Given the description of an element on the screen output the (x, y) to click on. 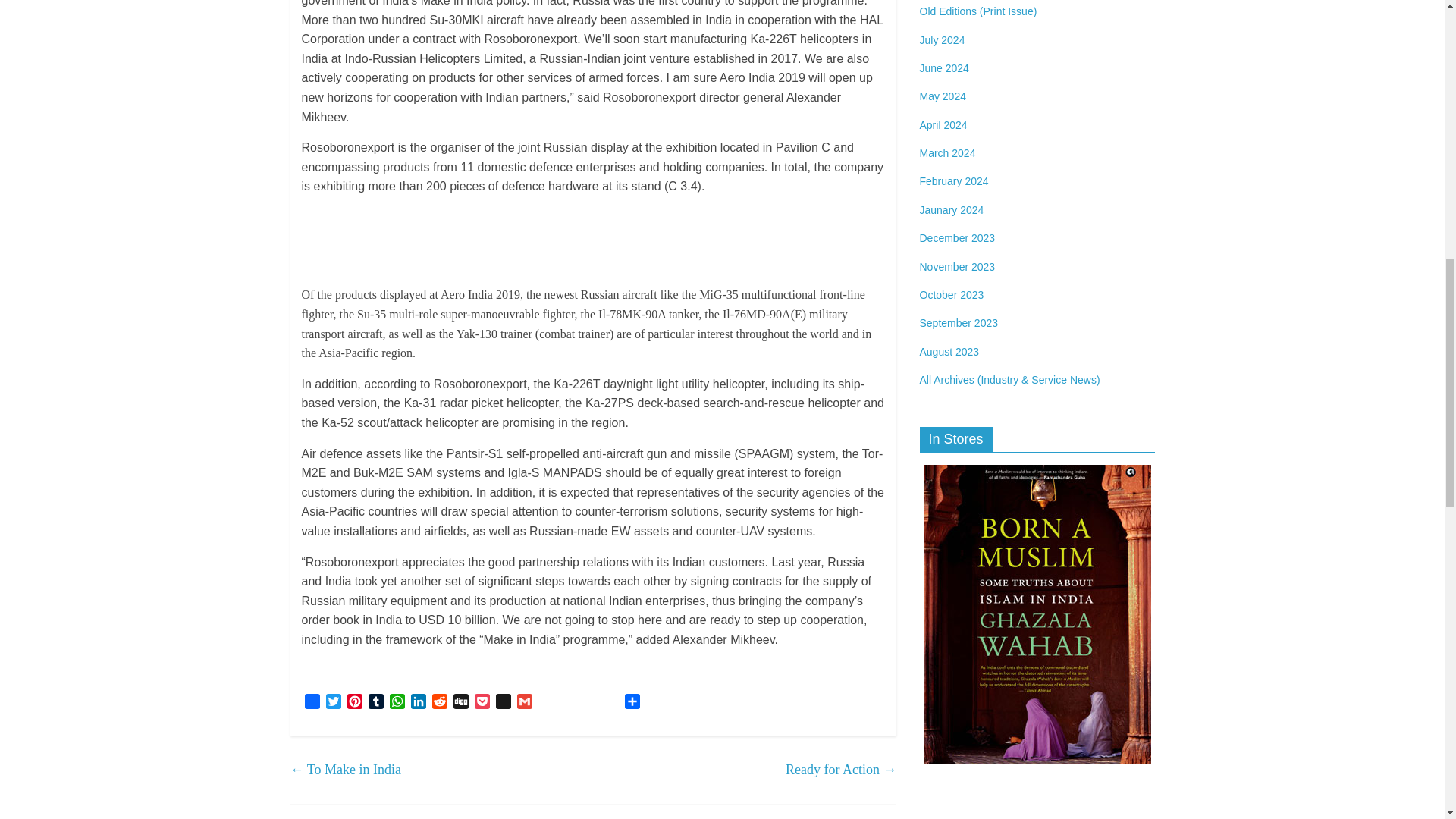
Pinterest (354, 702)
Tumblr (376, 702)
WhatsApp (397, 702)
Twitter (333, 702)
Facebook (312, 702)
